Given the description of an element on the screen output the (x, y) to click on. 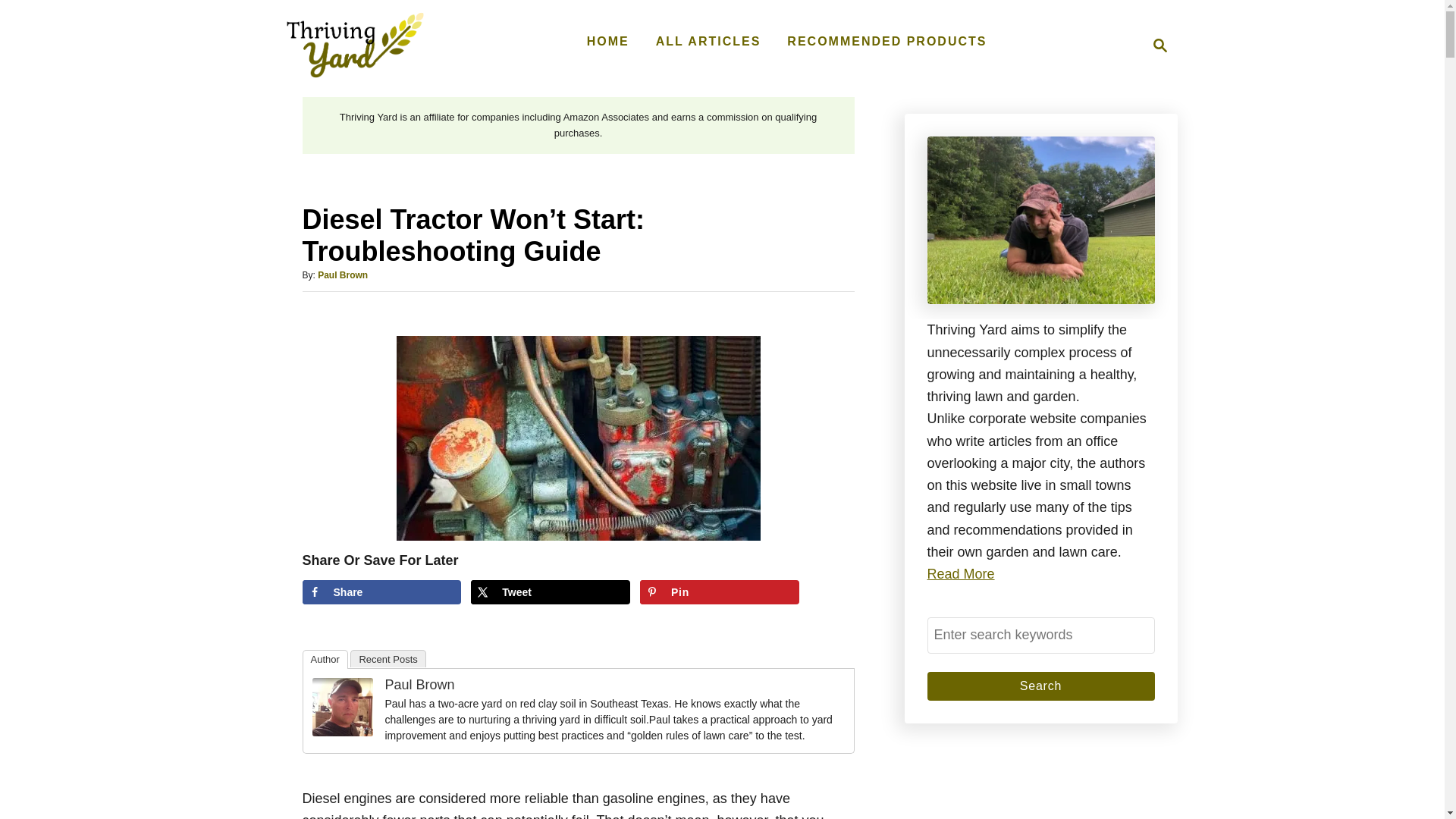
Recent Posts (387, 658)
Search (1040, 686)
Search (1040, 686)
Share (381, 591)
Pin (1155, 45)
Share on X (719, 591)
Share on Facebook (550, 591)
HOME (381, 591)
Search for: (608, 41)
Save to Pinterest (1040, 634)
ALL ARTICLES (719, 591)
Paul Brown (707, 41)
Skip to Content (342, 275)
